Given the description of an element on the screen output the (x, y) to click on. 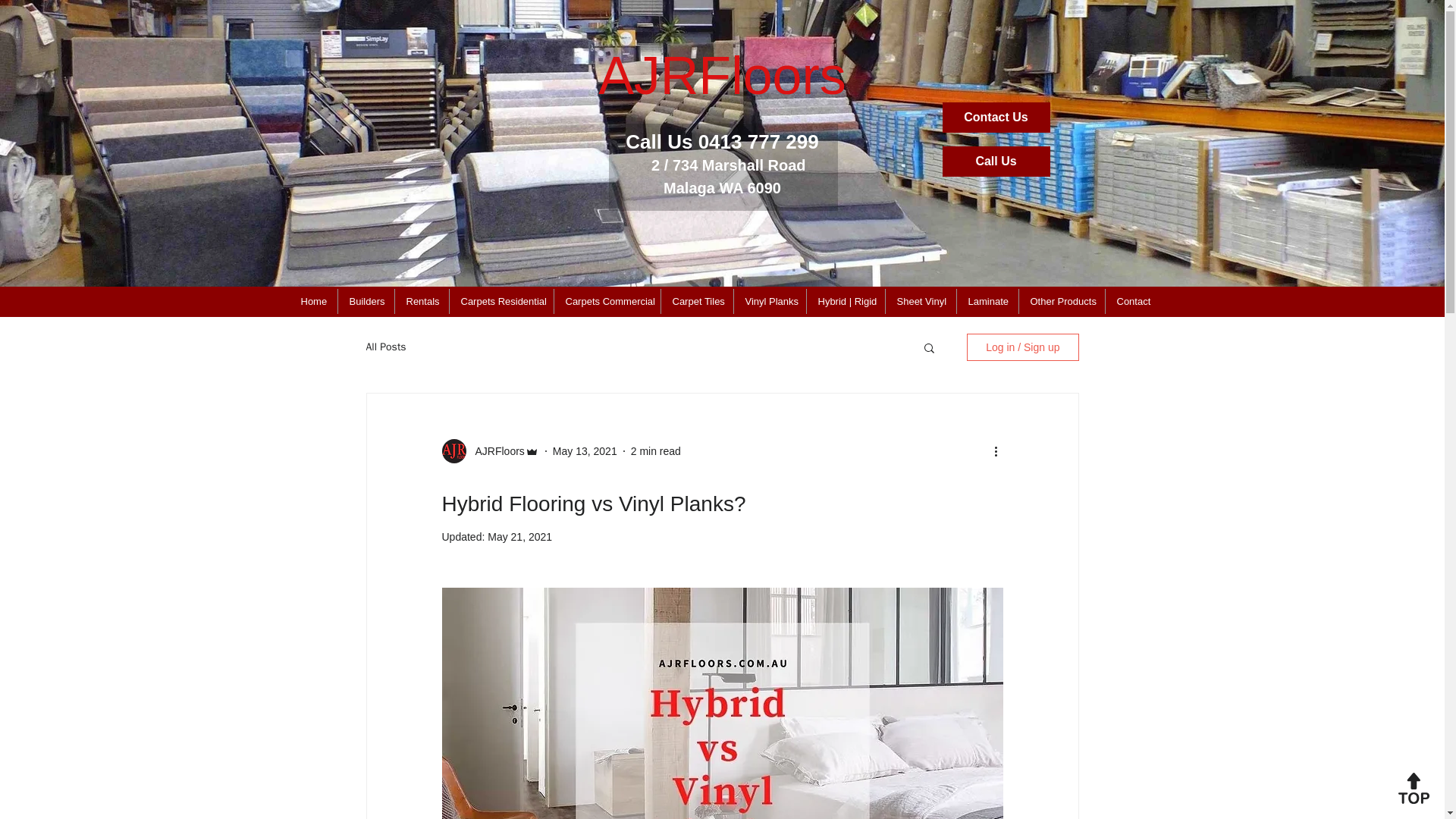
0413 777 299 (758, 141)
Rentals (421, 301)
2 min read (655, 450)
AJRFloors (494, 450)
May 13, 2021 (585, 450)
Contact Us (995, 117)
May 21, 2021 (519, 536)
Home (313, 301)
Carpets Residential (500, 301)
Call Us (995, 161)
